Given the description of an element on the screen output the (x, y) to click on. 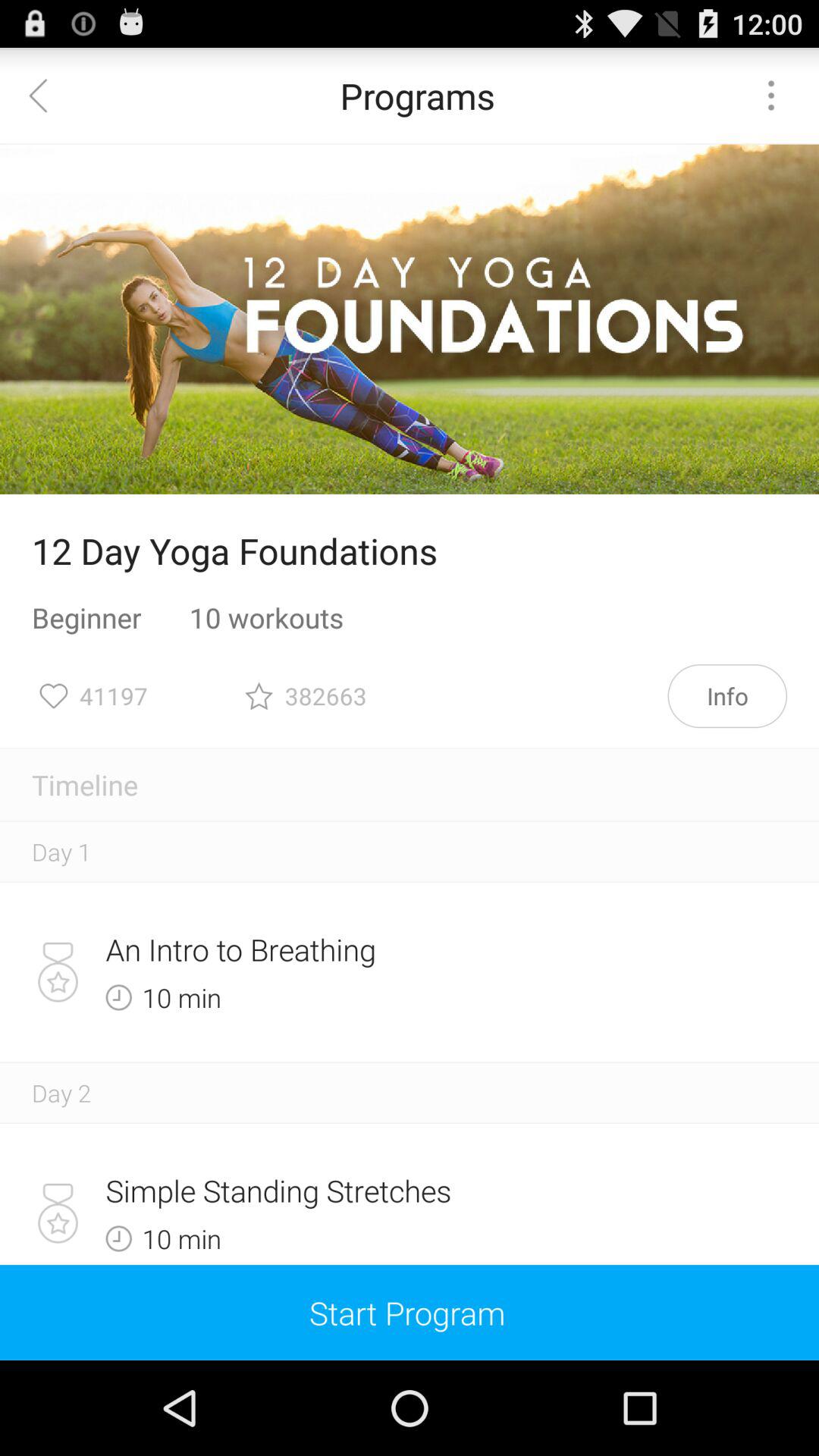
open item next to the programs item (47, 95)
